Given the description of an element on the screen output the (x, y) to click on. 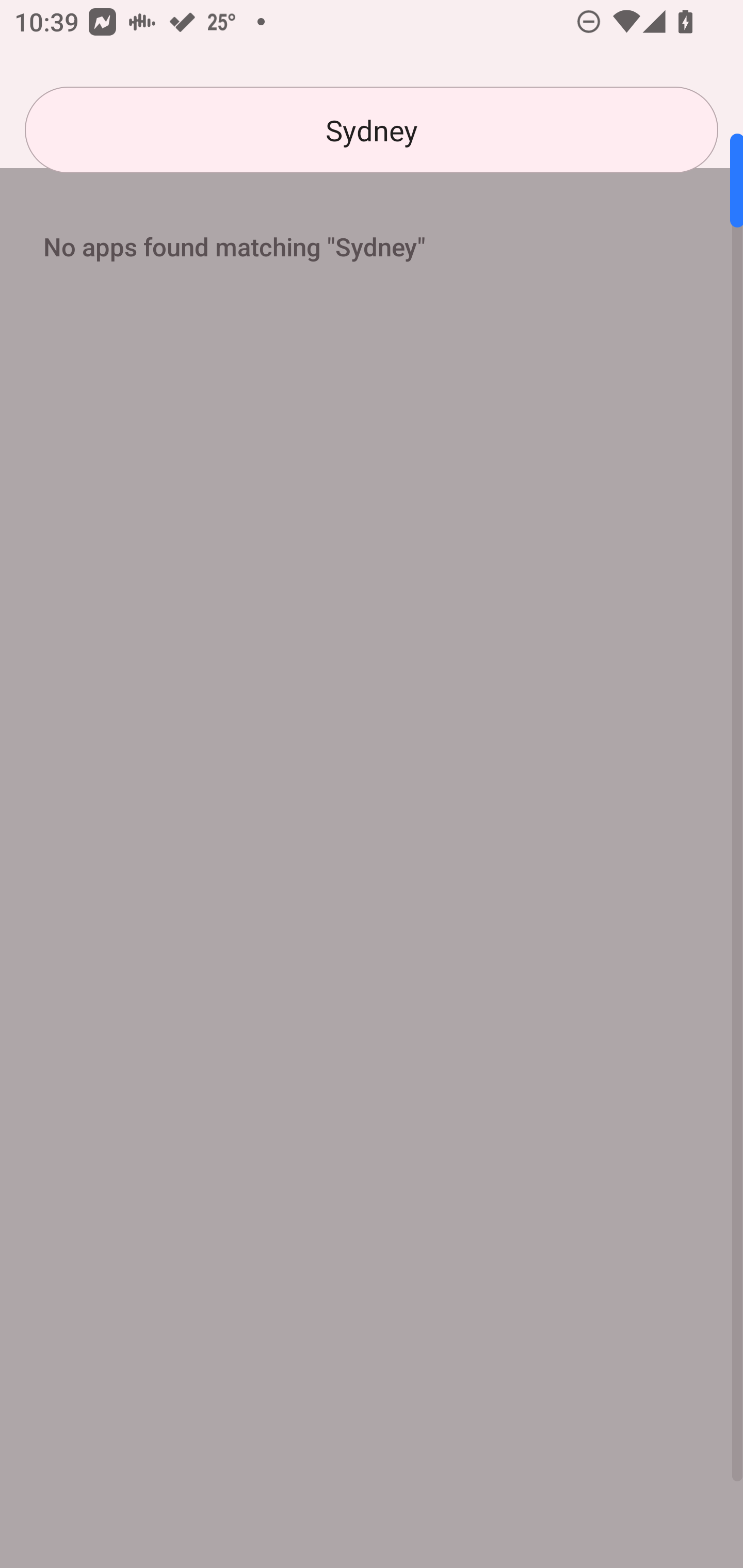
Sydney (371, 130)
